Given the description of an element on the screen output the (x, y) to click on. 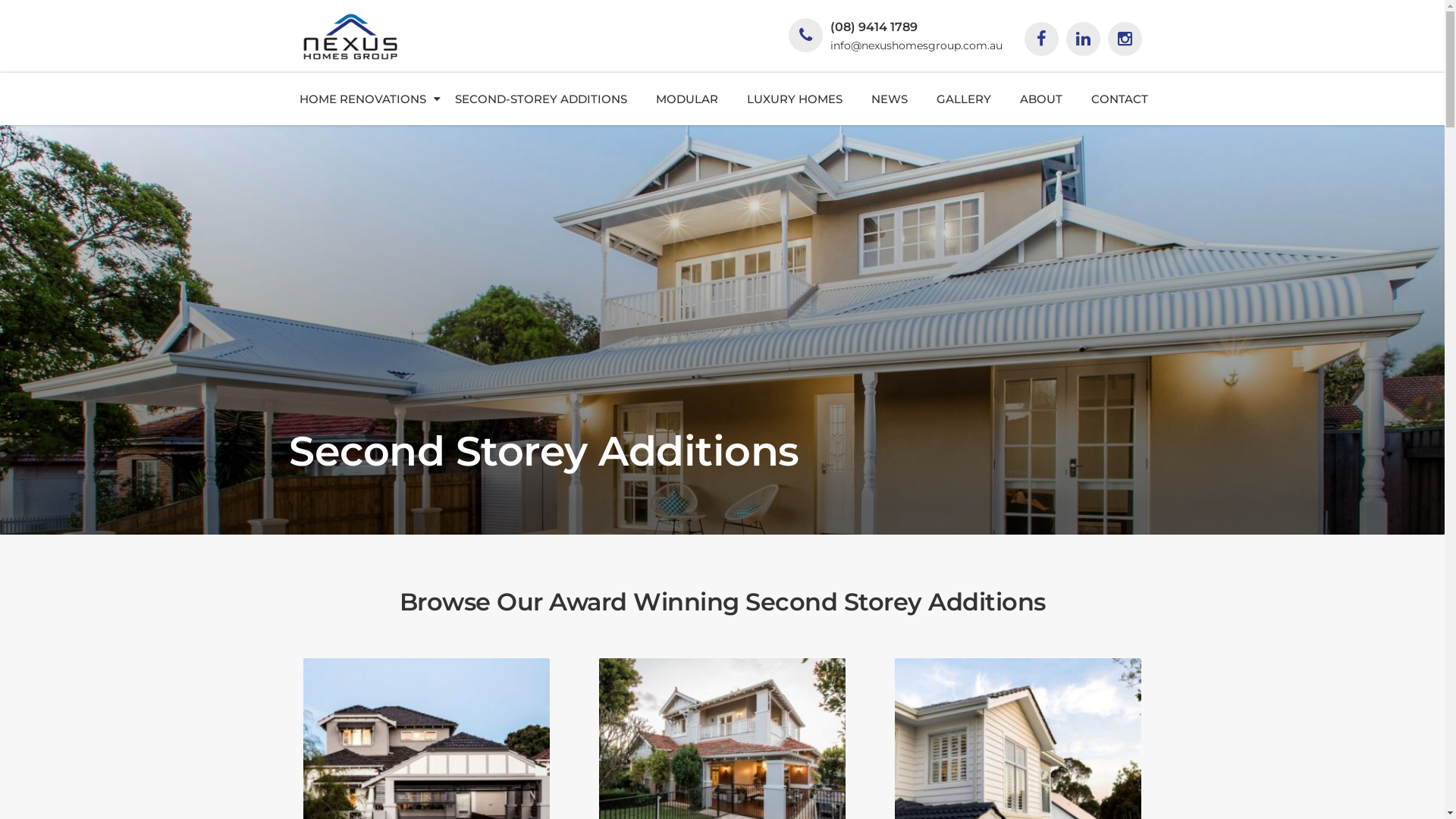
ABOUT Element type: text (1040, 98)
HOME RENOVATIONS Element type: text (362, 98)
LUXURY HOMES Element type: text (794, 98)
info@nexushomesgroup.com.au Element type: text (915, 45)
(08) 9414 1789 Element type: text (872, 26)
SECOND-STOREY ADDITIONS Element type: text (540, 98)
CONTACT Element type: text (1119, 98)
MODULAR Element type: text (686, 98)
NEWS Element type: text (889, 98)
GALLERY Element type: text (963, 98)
